Given the description of an element on the screen output the (x, y) to click on. 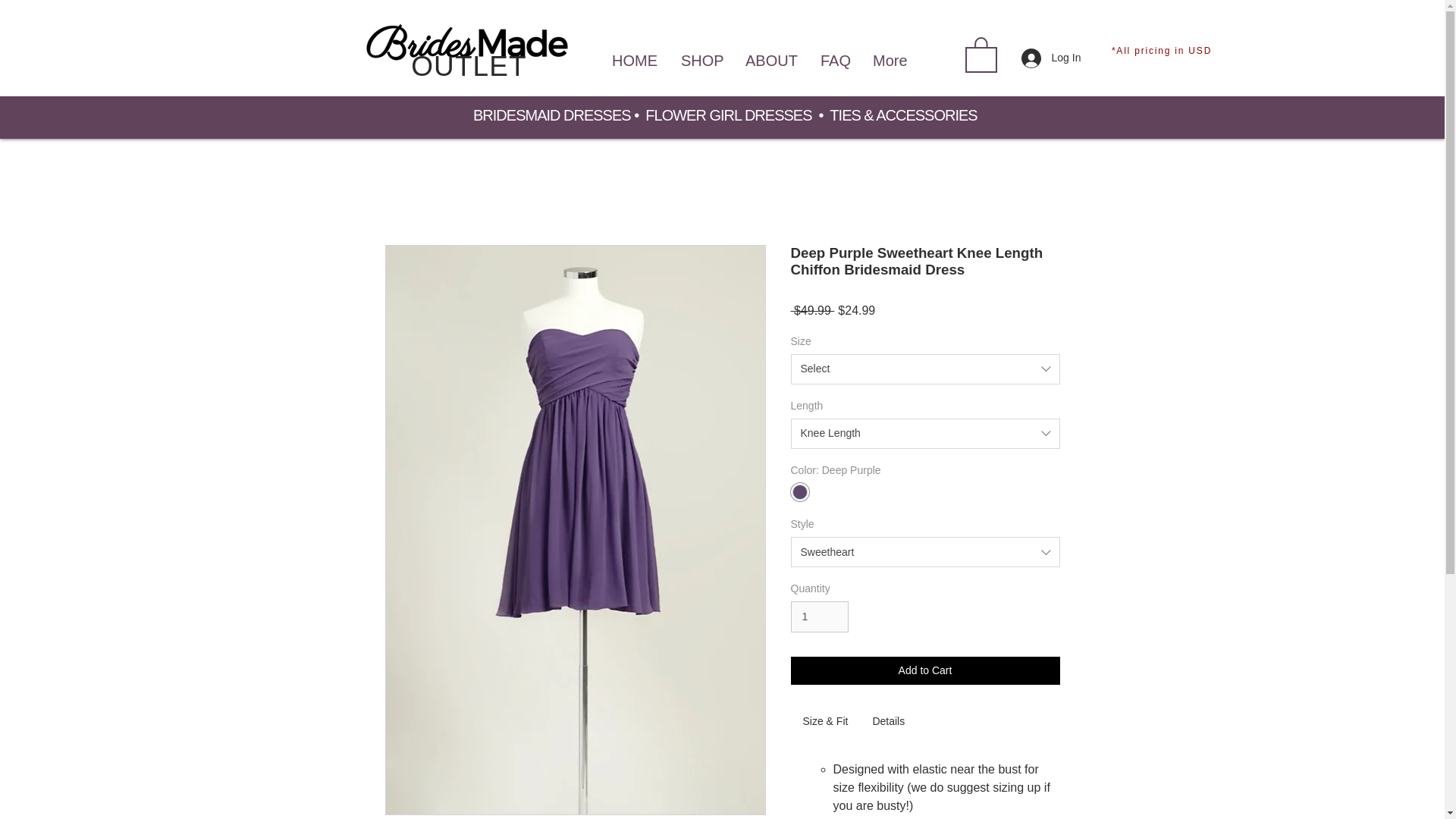
FAQ (836, 53)
ABOUT (772, 53)
HOME (636, 53)
1 (818, 616)
Use right and left arrows to navigate between tabs (825, 722)
SHOP (703, 53)
Use right and left arrows to navigate between tabs (888, 722)
Add to Cart (924, 670)
Knee Length (924, 433)
Log In (1046, 58)
